Given the description of an element on the screen output the (x, y) to click on. 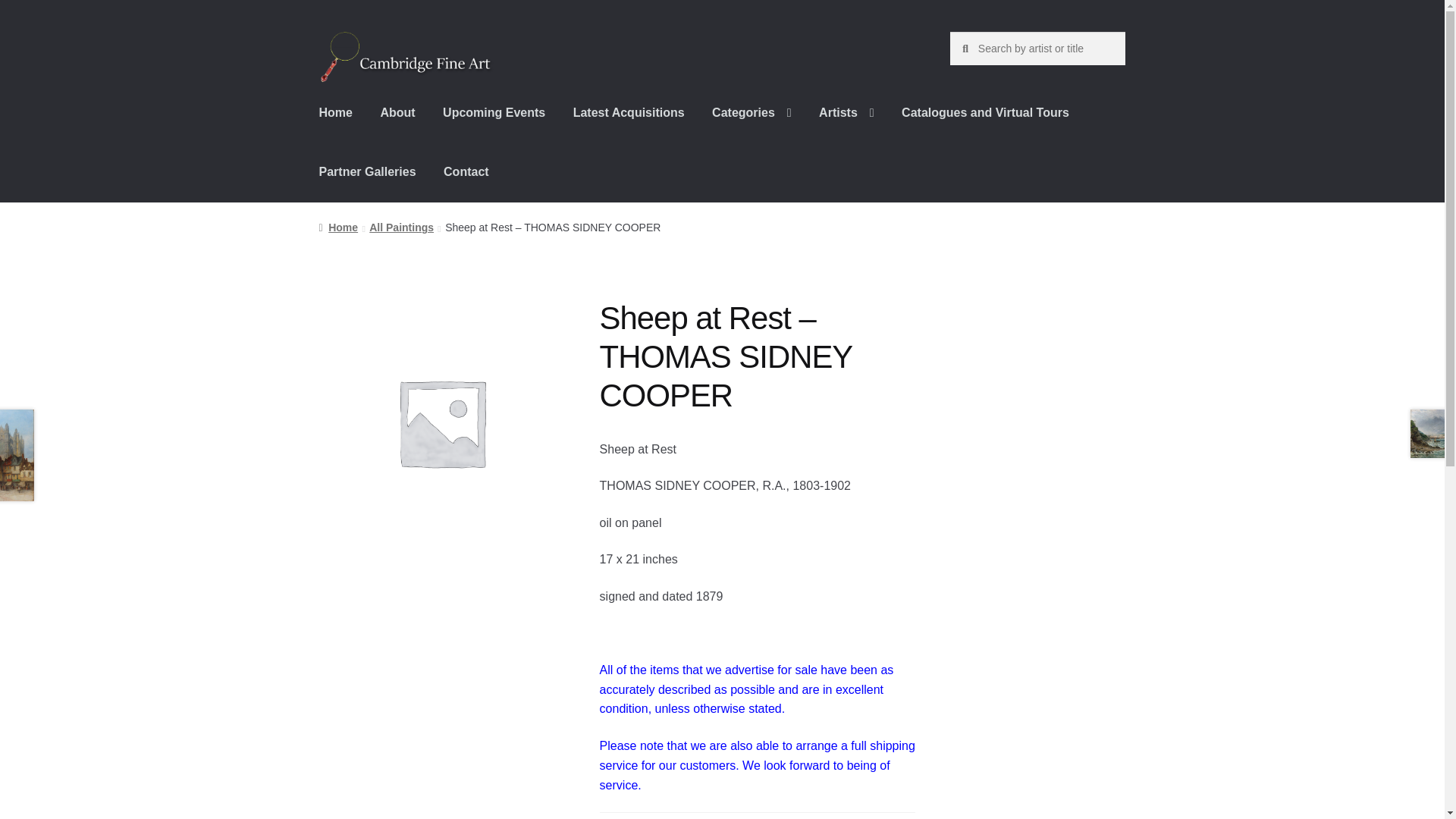
Partner Galleries (367, 171)
Cambridge Fine Art (405, 57)
Contact (465, 171)
About (397, 112)
Categories (751, 112)
Latest Acquisitions (628, 112)
Artists (846, 112)
Catalogues and Virtual Tours (985, 112)
Upcoming Events (493, 112)
Home (336, 112)
